Given the description of an element on the screen output the (x, y) to click on. 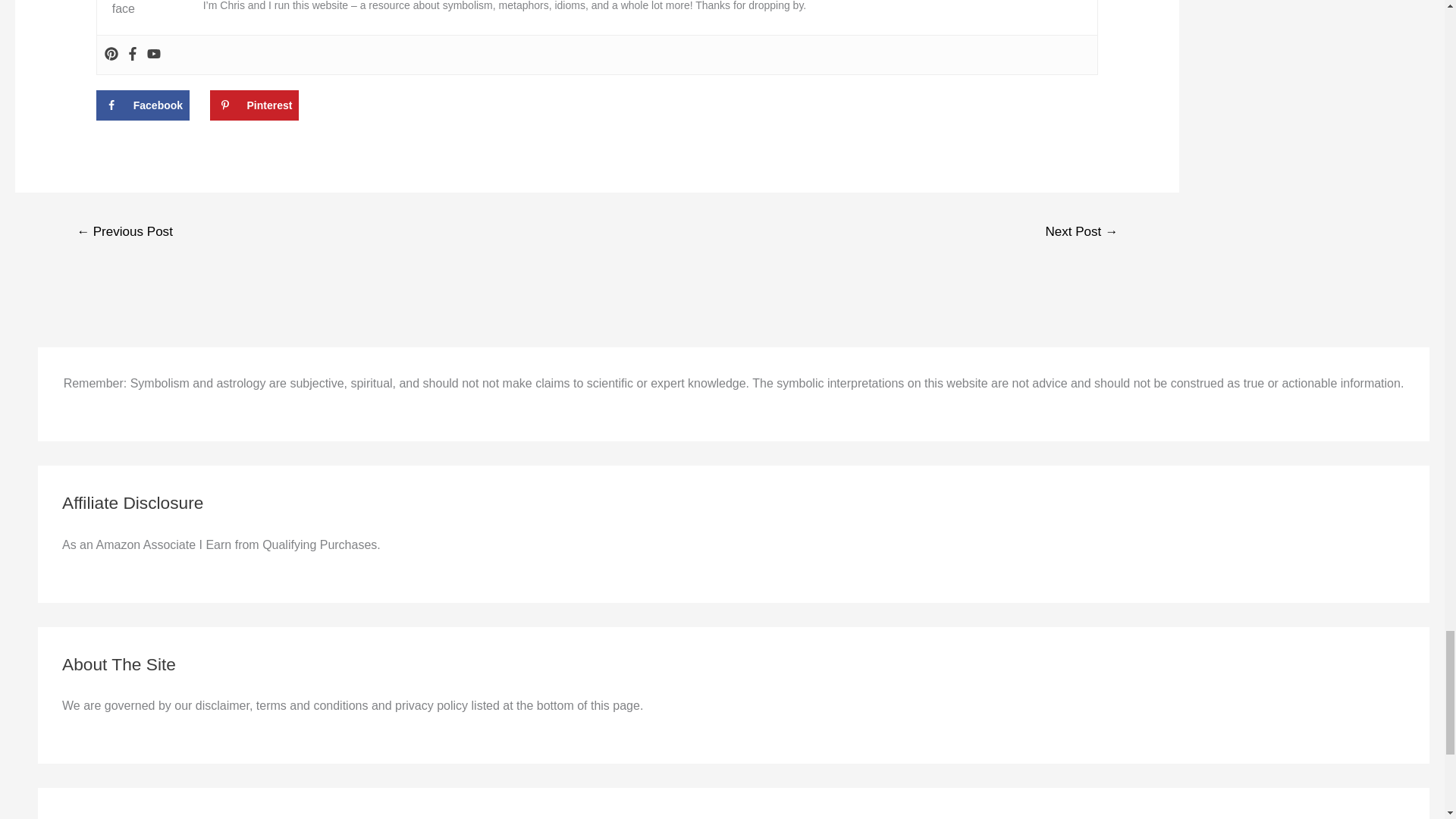
Save to Pinterest (253, 105)
Facebook (142, 105)
Pinterest (110, 54)
Share on Facebook (142, 105)
Youtube (153, 54)
Facebook (132, 54)
Pinterest (253, 105)
